Given the description of an element on the screen output the (x, y) to click on. 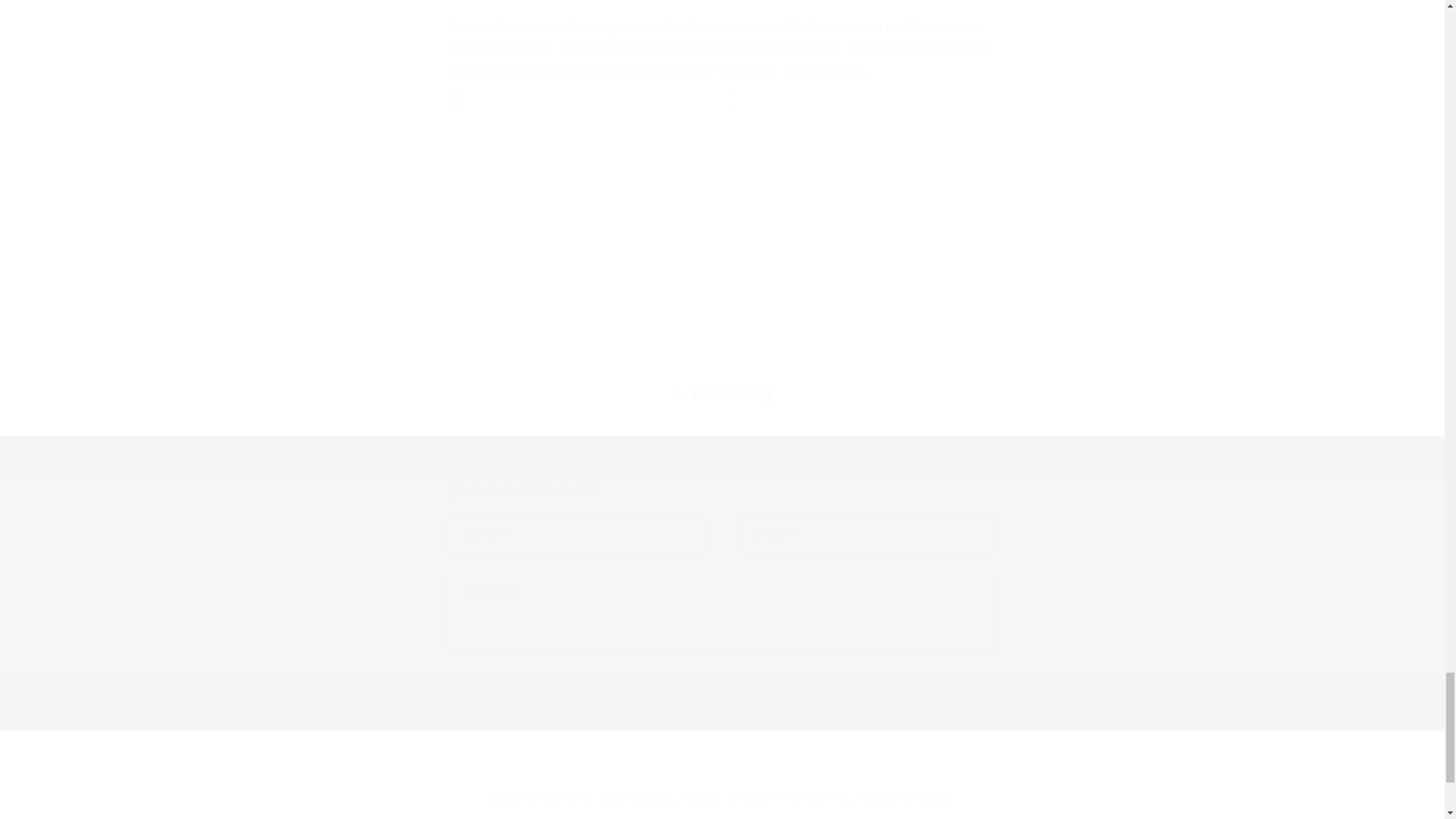
Post comment (510, 701)
Post comment (510, 701)
